Given the description of an element on the screen output the (x, y) to click on. 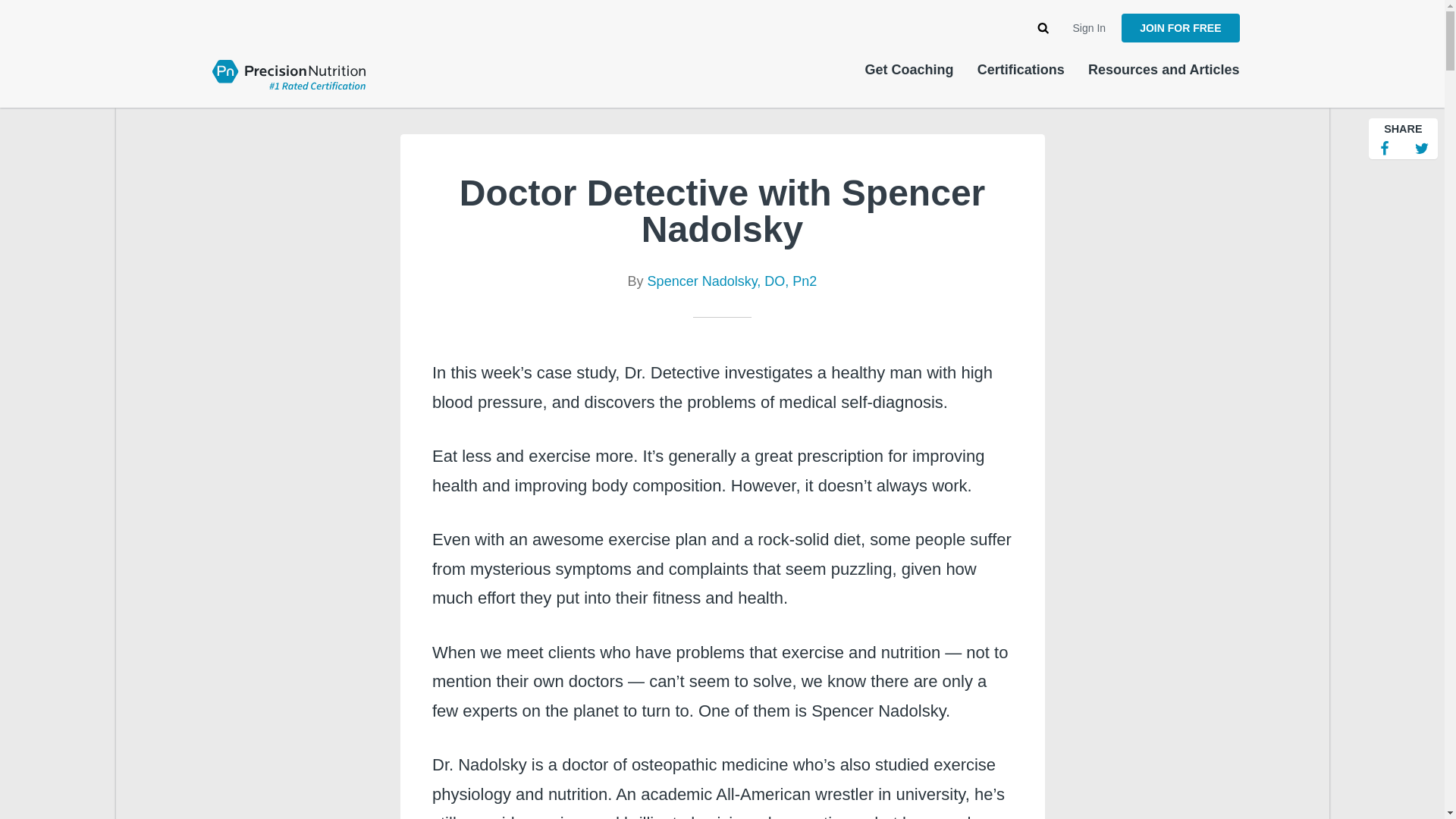
Get Coaching (908, 69)
Resources and Articles (1163, 69)
Sign In (1089, 28)
JOIN FOR FREE (1180, 27)
Certifications (1020, 69)
Go to homepage (288, 73)
